Given the description of an element on the screen output the (x, y) to click on. 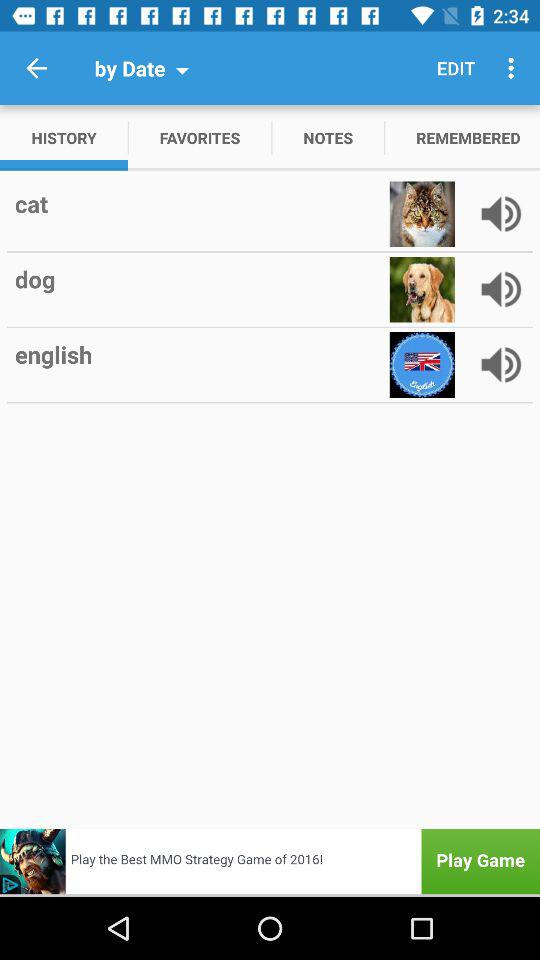
turn off the icon above the history app (36, 68)
